Given the description of an element on the screen output the (x, y) to click on. 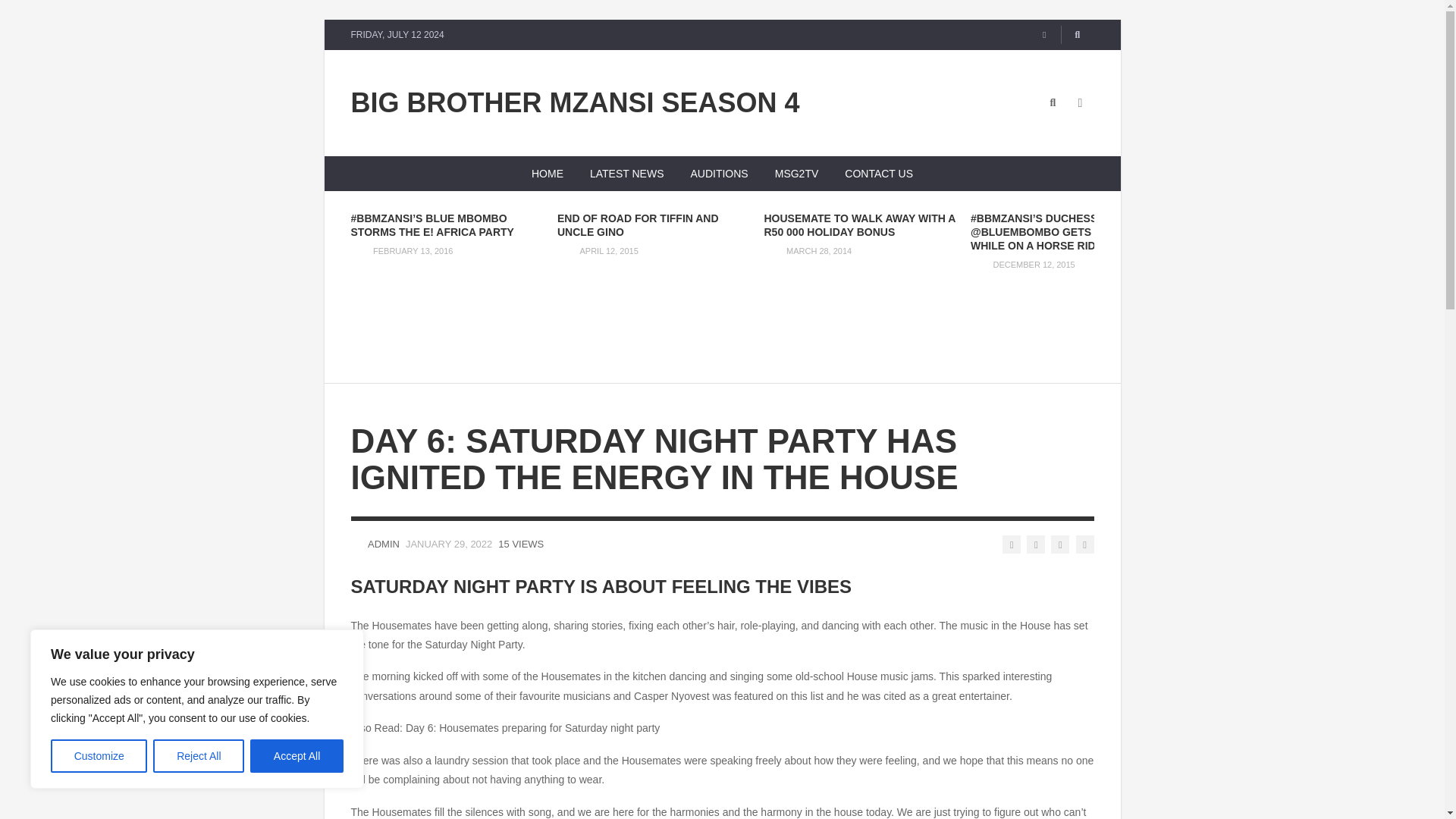
Reject All (198, 756)
CONTACT US (878, 173)
BIG BROTHER MZANSI SEASON 4 (574, 102)
LATEST NEWS (626, 173)
Customize (98, 756)
AUDITIONS (719, 173)
END OF ROAD FOR TIFFIN AND UNCLE GINO (638, 225)
HOUSEMATE TO WALK AWAY WITH A R50 000 HOLIDAY BONUS (859, 225)
MSG2TV (796, 173)
Accept All (296, 756)
HOME (547, 173)
